Given the description of an element on the screen output the (x, y) to click on. 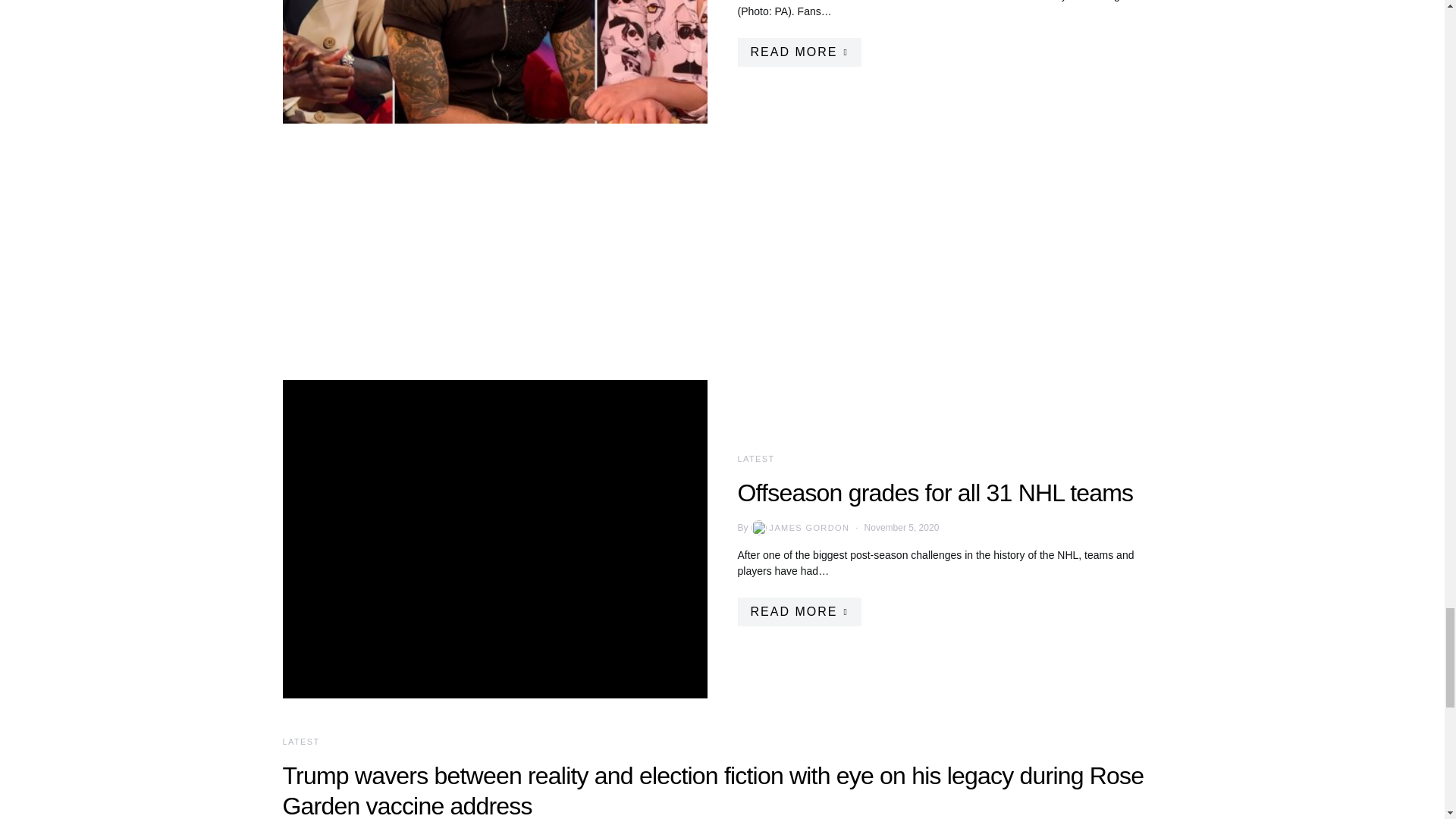
View all posts by James Gordon (799, 527)
READ MORE (798, 51)
